Given the description of an element on the screen output the (x, y) to click on. 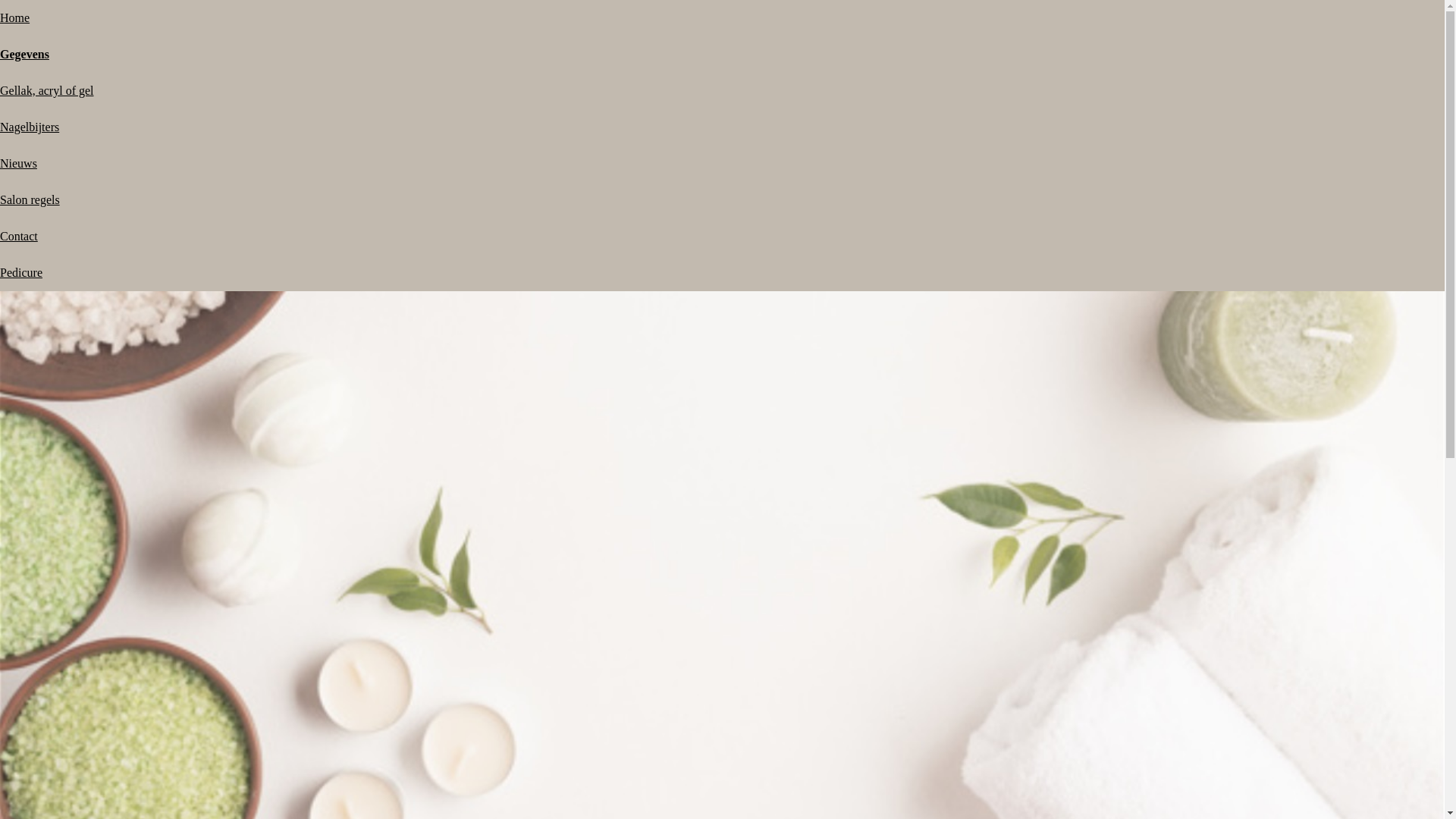
Contact Element type: text (18, 235)
Pedicure Element type: text (21, 272)
Nieuws Element type: text (18, 162)
Nagelbijters Element type: text (29, 126)
Gegevens Element type: text (24, 53)
Home Element type: text (14, 17)
Gellak, acryl of gel Element type: text (47, 90)
Salon regels Element type: text (29, 199)
